Given the description of an element on the screen output the (x, y) to click on. 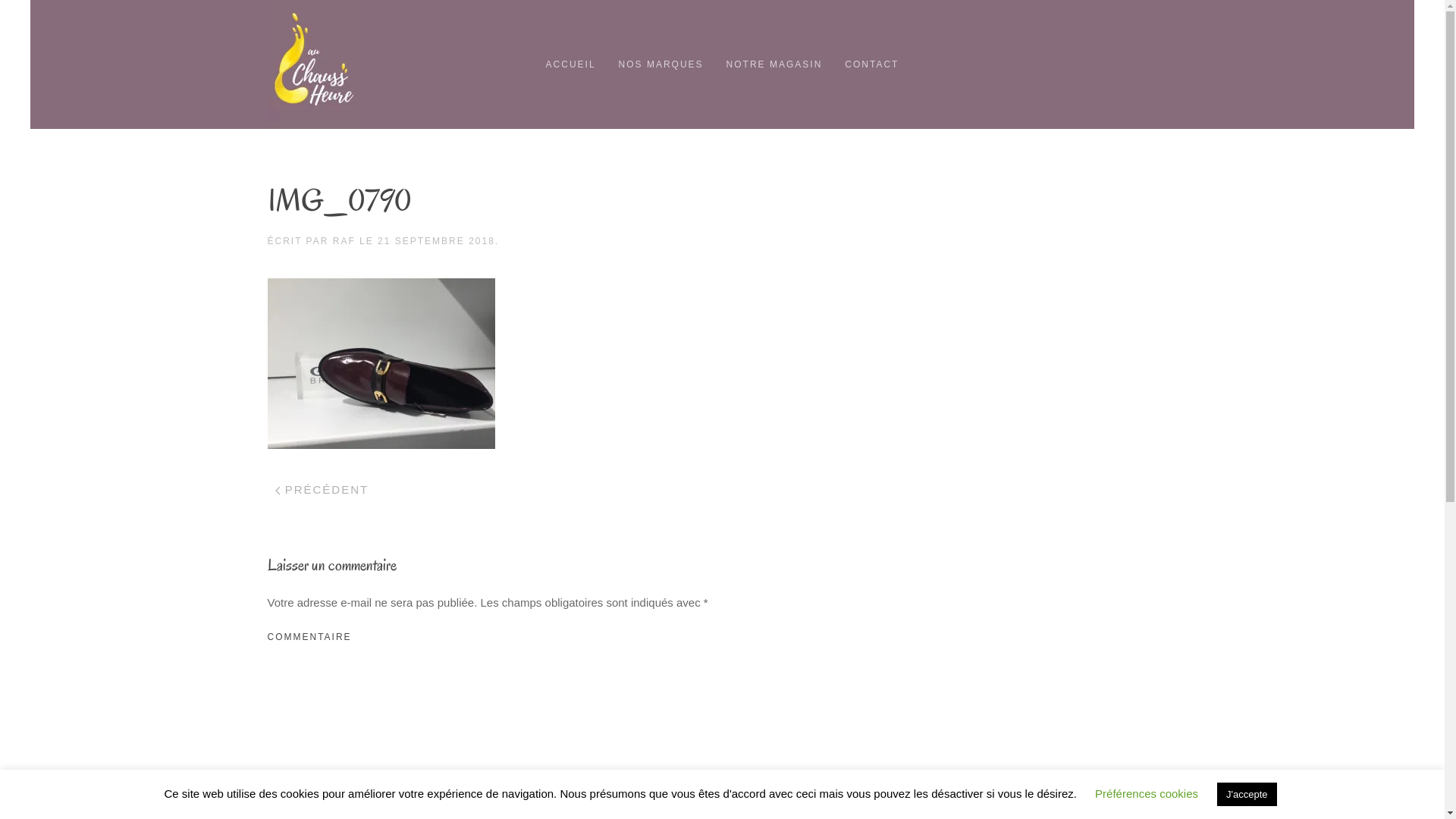
RAF Element type: text (343, 240)
J'accepte Element type: text (1247, 794)
NOTRE MAGASIN Element type: text (774, 64)
CONTACT Element type: text (871, 64)
ACCUEIL Element type: text (571, 64)
NOS MARQUES Element type: text (660, 64)
